Given the description of an element on the screen output the (x, y) to click on. 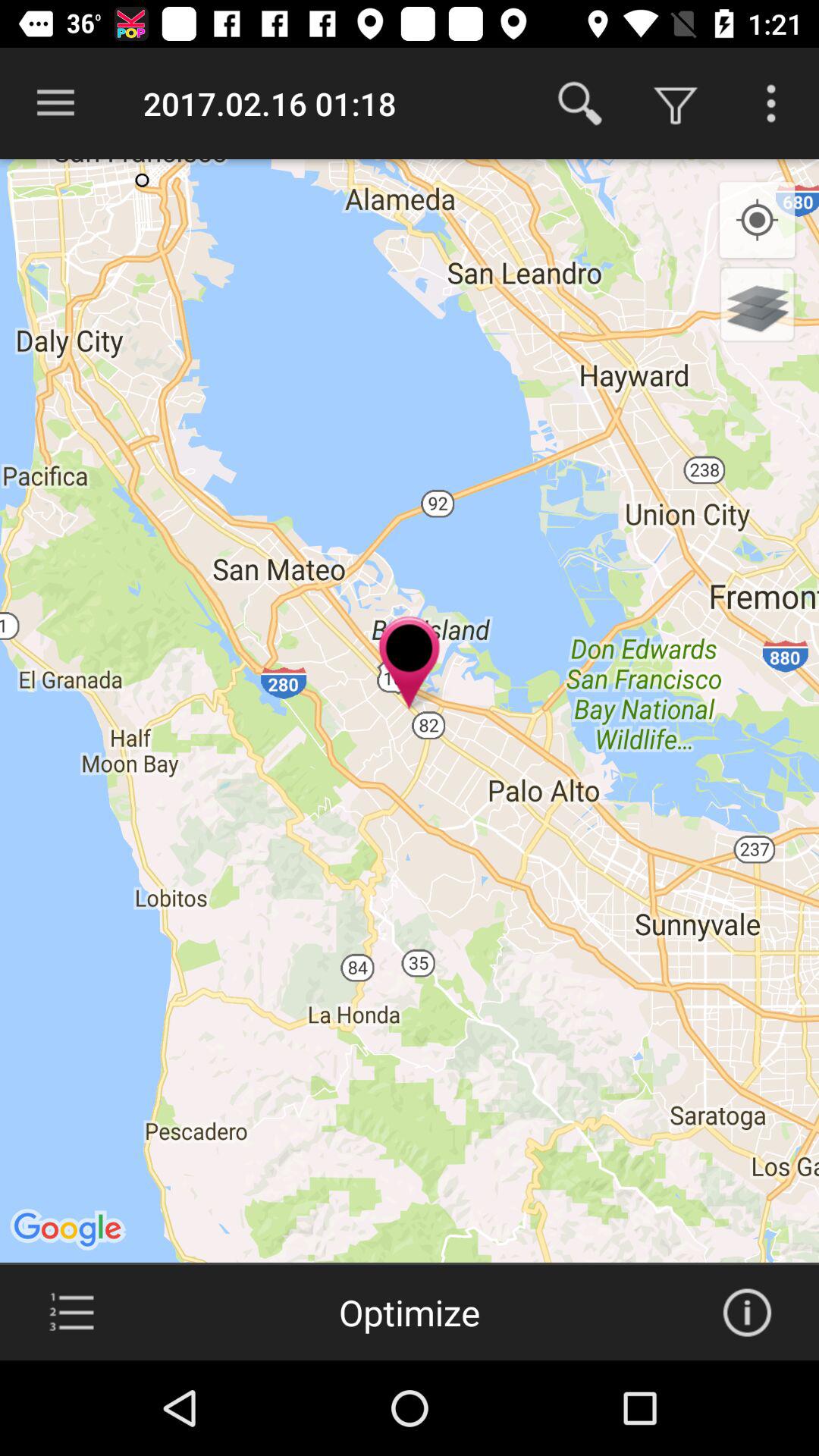
tab to maps toggle to select location pointout location on map (71, 1312)
